Given the description of an element on the screen output the (x, y) to click on. 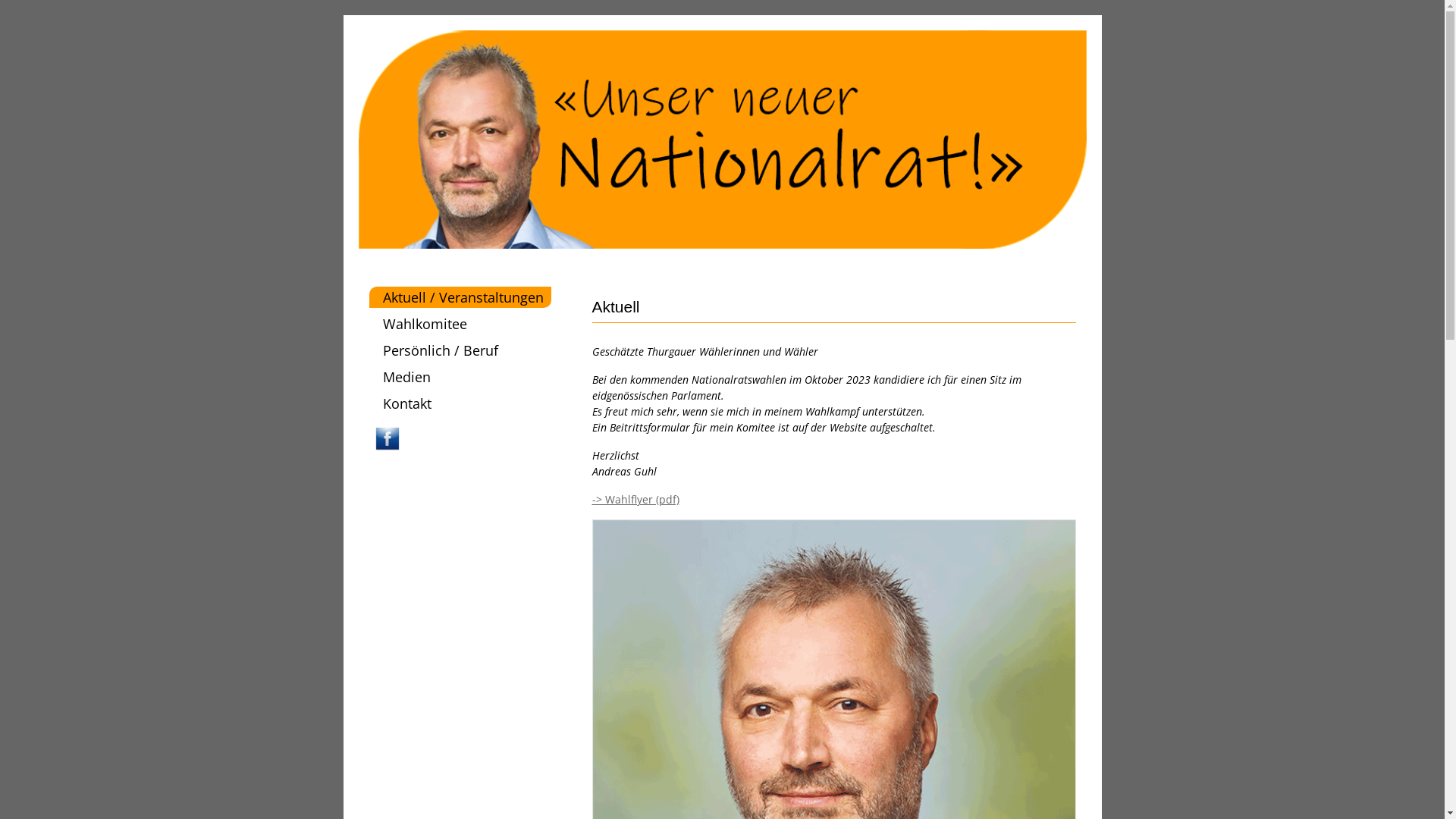
Medien Element type: text (459, 375)
Wahlkomitee Element type: text (459, 322)
Kontakt Element type: text (459, 403)
Aktuell / Veranstaltungen Element type: text (459, 296)
-> Wahlflyer (pdf) Element type: text (634, 499)
